Given the description of an element on the screen output the (x, y) to click on. 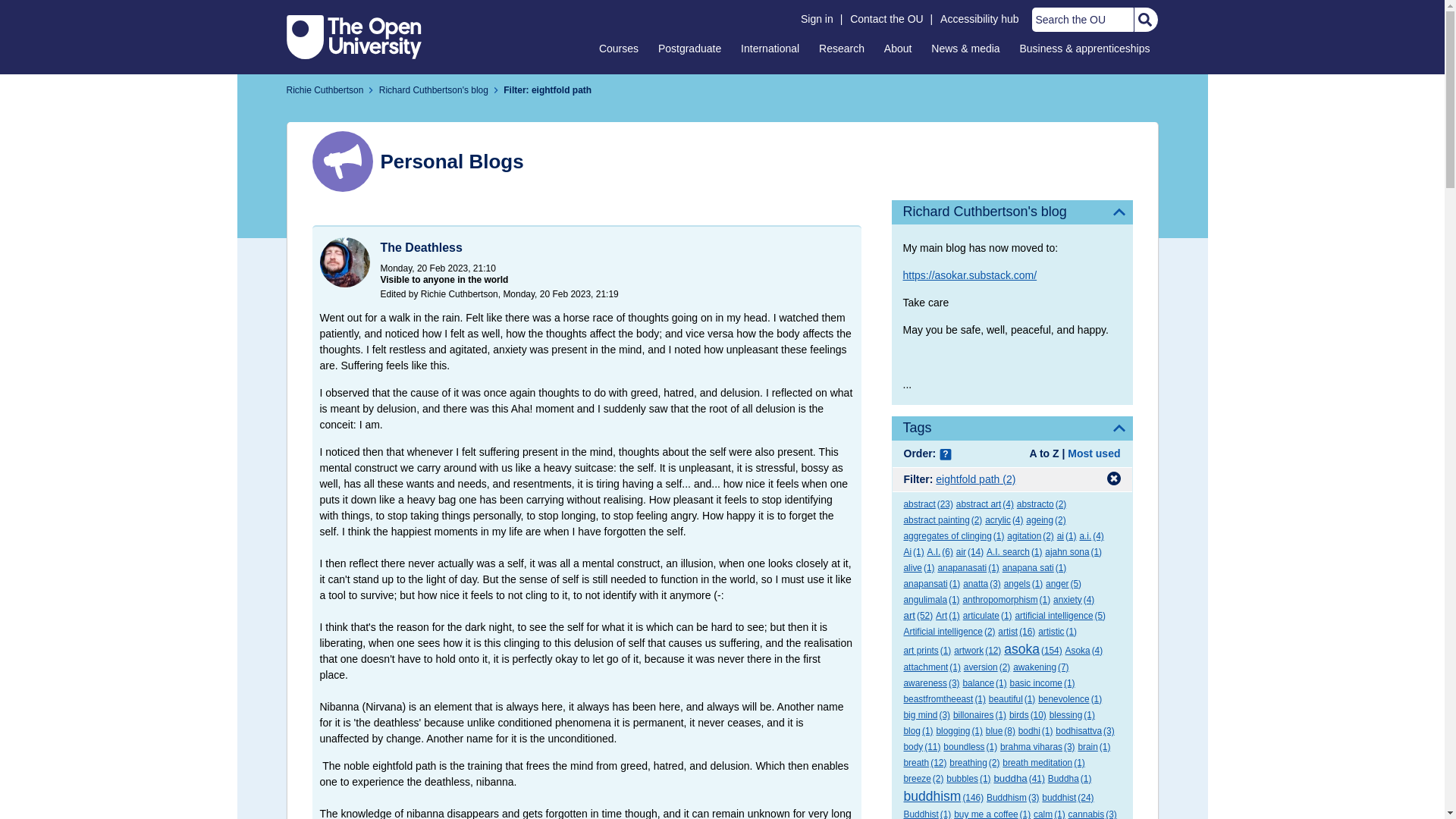
Sign in (816, 19)
Richard Cuthbertson's blog (1011, 211)
Search (1144, 19)
Research (841, 48)
Help with Order: (945, 454)
Most used (1093, 453)
Postgraduate (689, 48)
Tags (1011, 428)
